Given the description of an element on the screen output the (x, y) to click on. 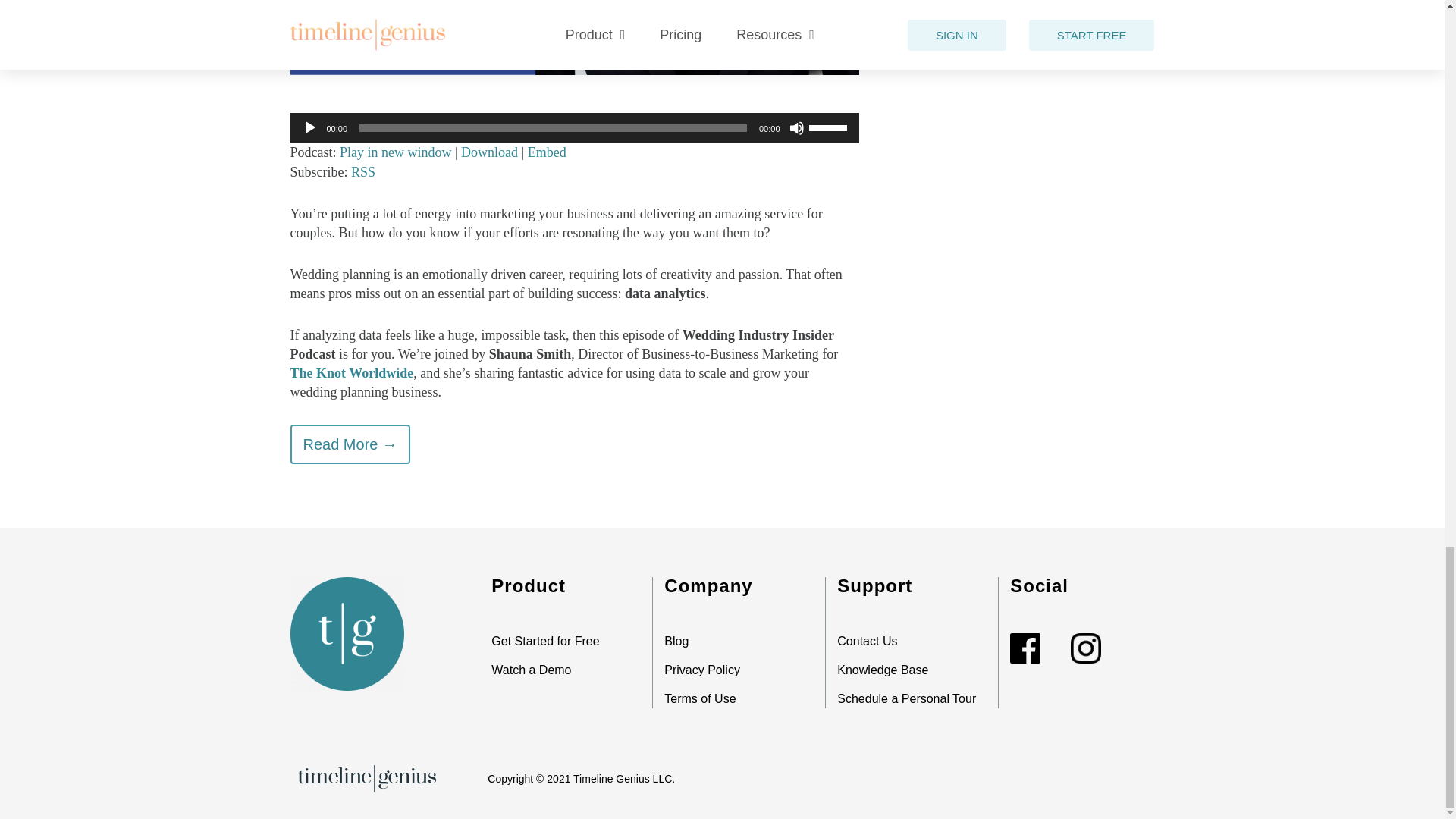
Embed (546, 151)
Download (489, 151)
Play (309, 127)
Subscribe via RSS (362, 171)
Play in new window (395, 151)
Mute (796, 127)
